Given the description of an element on the screen output the (x, y) to click on. 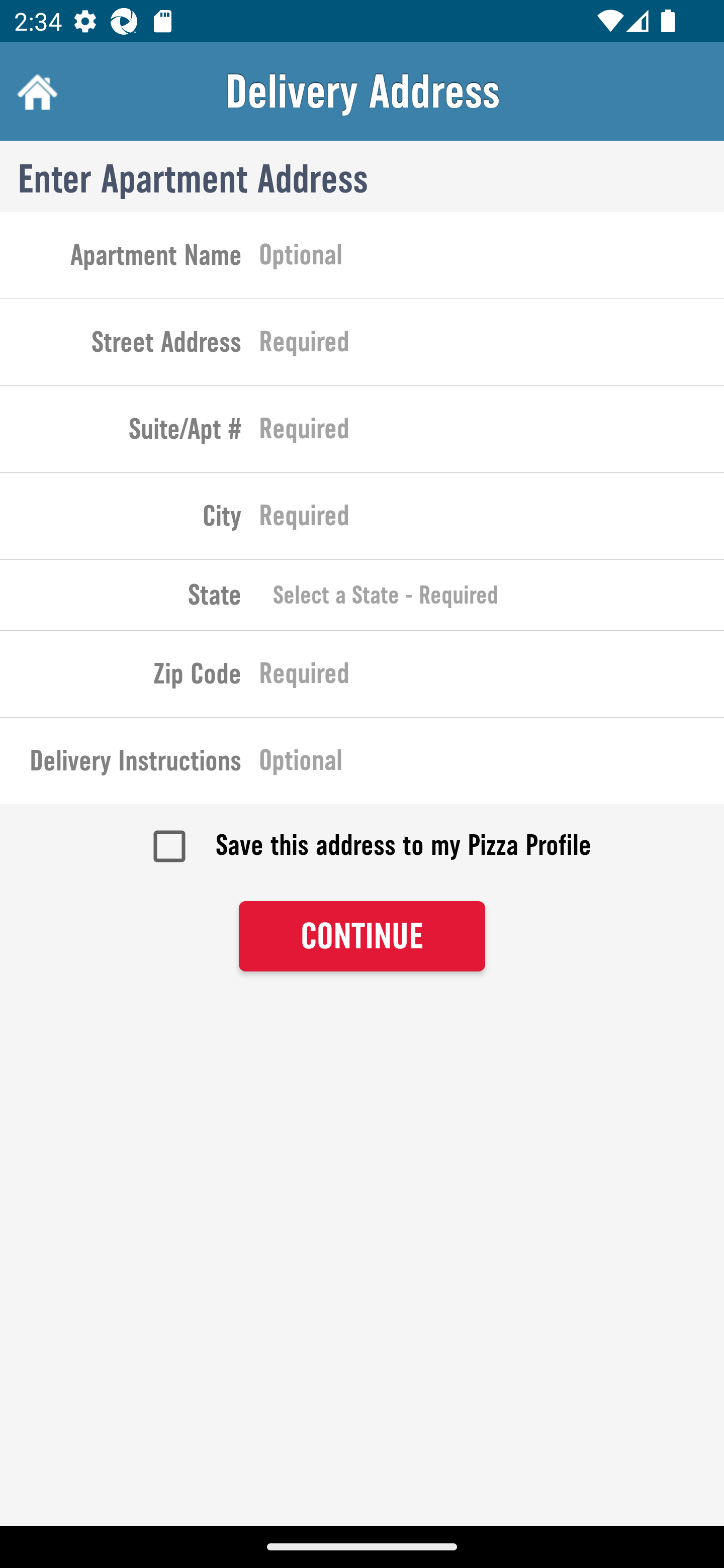
Home (35, 91)
Optional (491, 258)
Required (491, 345)
Required (491, 432)
Required (491, 519)
Select a State - Required (491, 594)
Required (491, 677)
Optional (491, 764)
CONTINUE (361, 936)
